Given the description of an element on the screen output the (x, y) to click on. 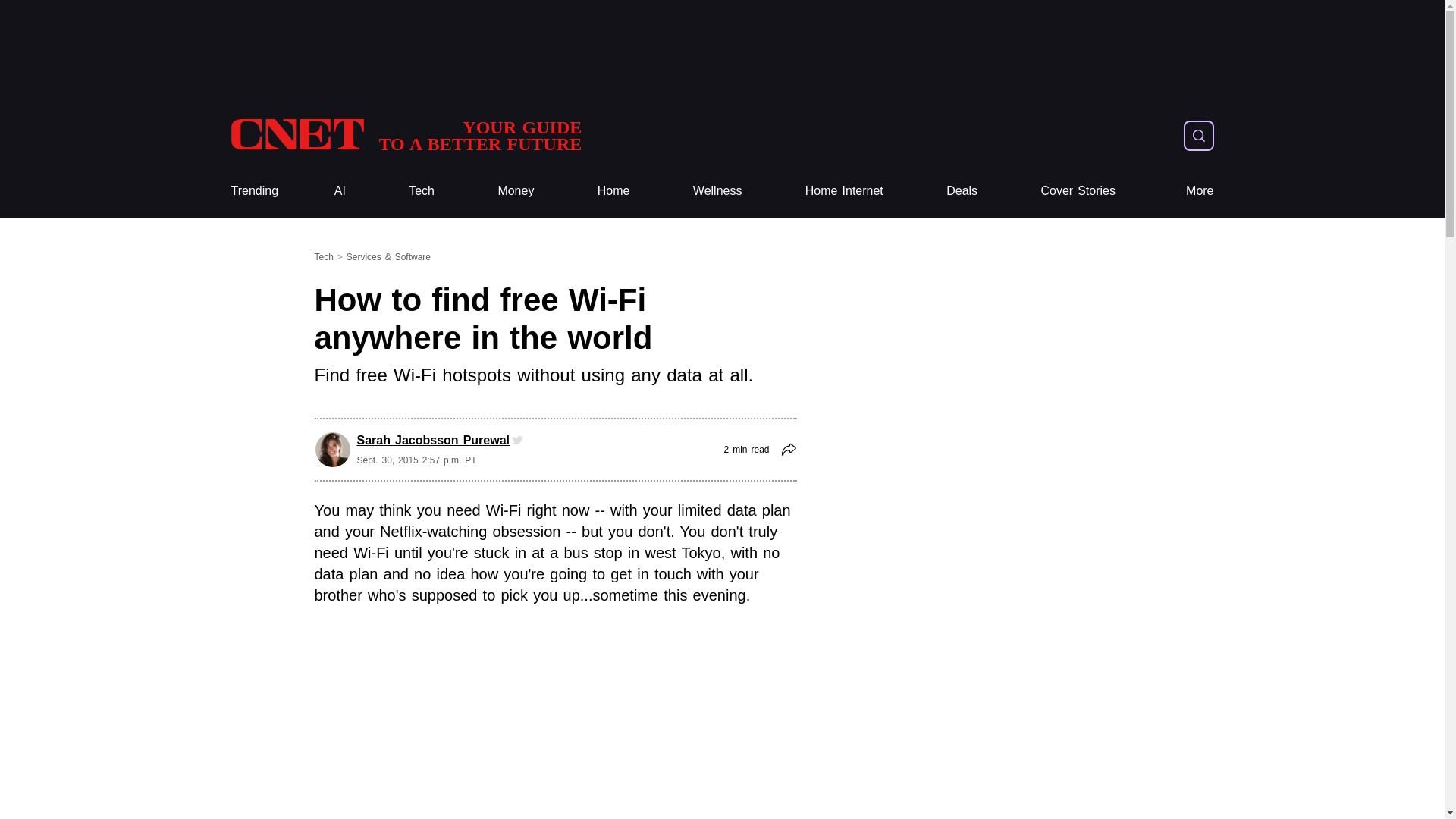
Wellness (717, 190)
CNET (405, 135)
Deals (961, 190)
Home Internet (844, 190)
Cover Stories (1078, 190)
Trending (254, 190)
Wellness (717, 190)
Home (405, 135)
Tech (613, 190)
